Given the description of an element on the screen output the (x, y) to click on. 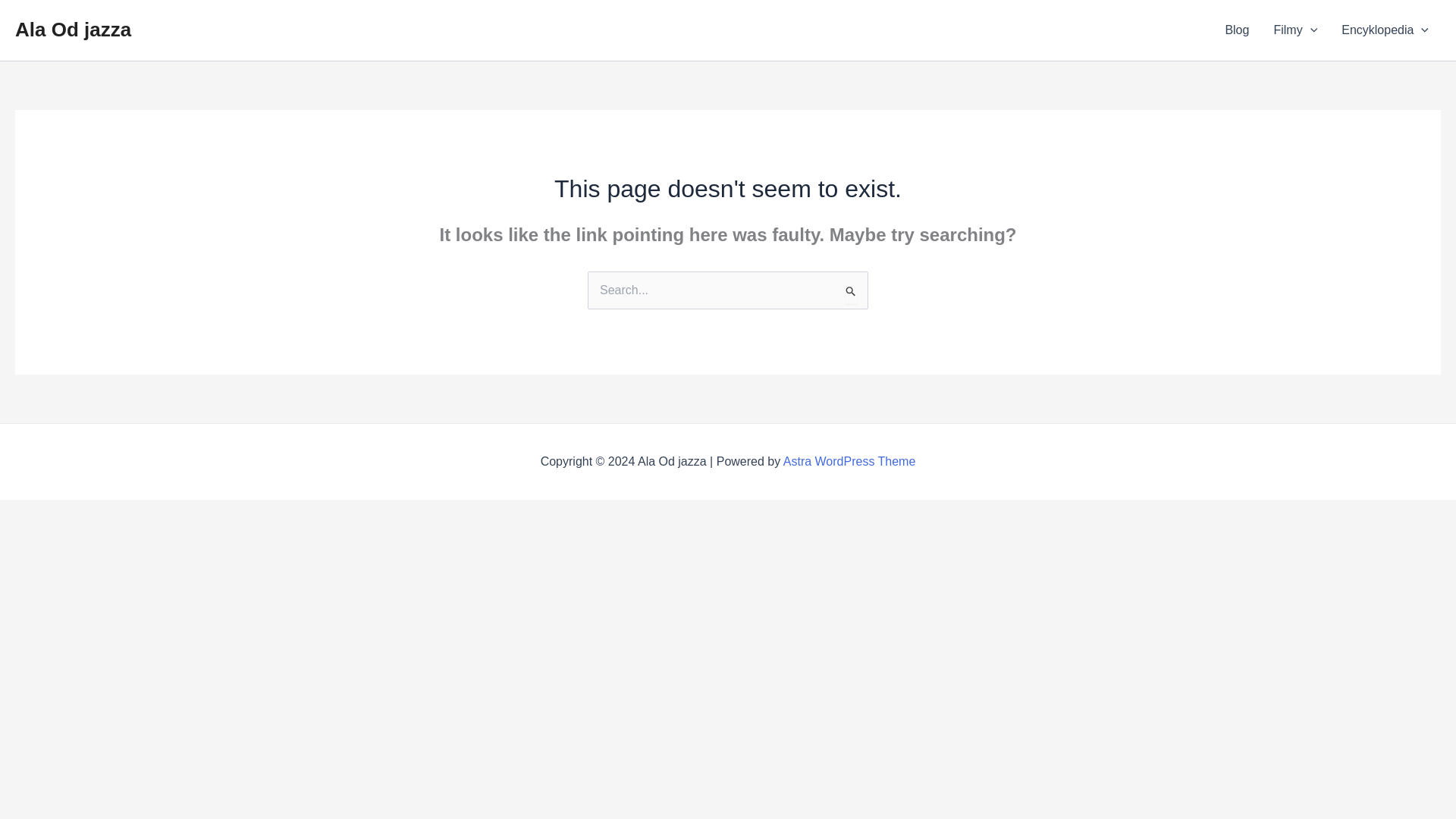
Blog (1236, 30)
Ala Od jazza (72, 29)
Filmy (1294, 30)
Search (850, 292)
Search (850, 292)
Encyklopedia (1385, 30)
